Given the description of an element on the screen output the (x, y) to click on. 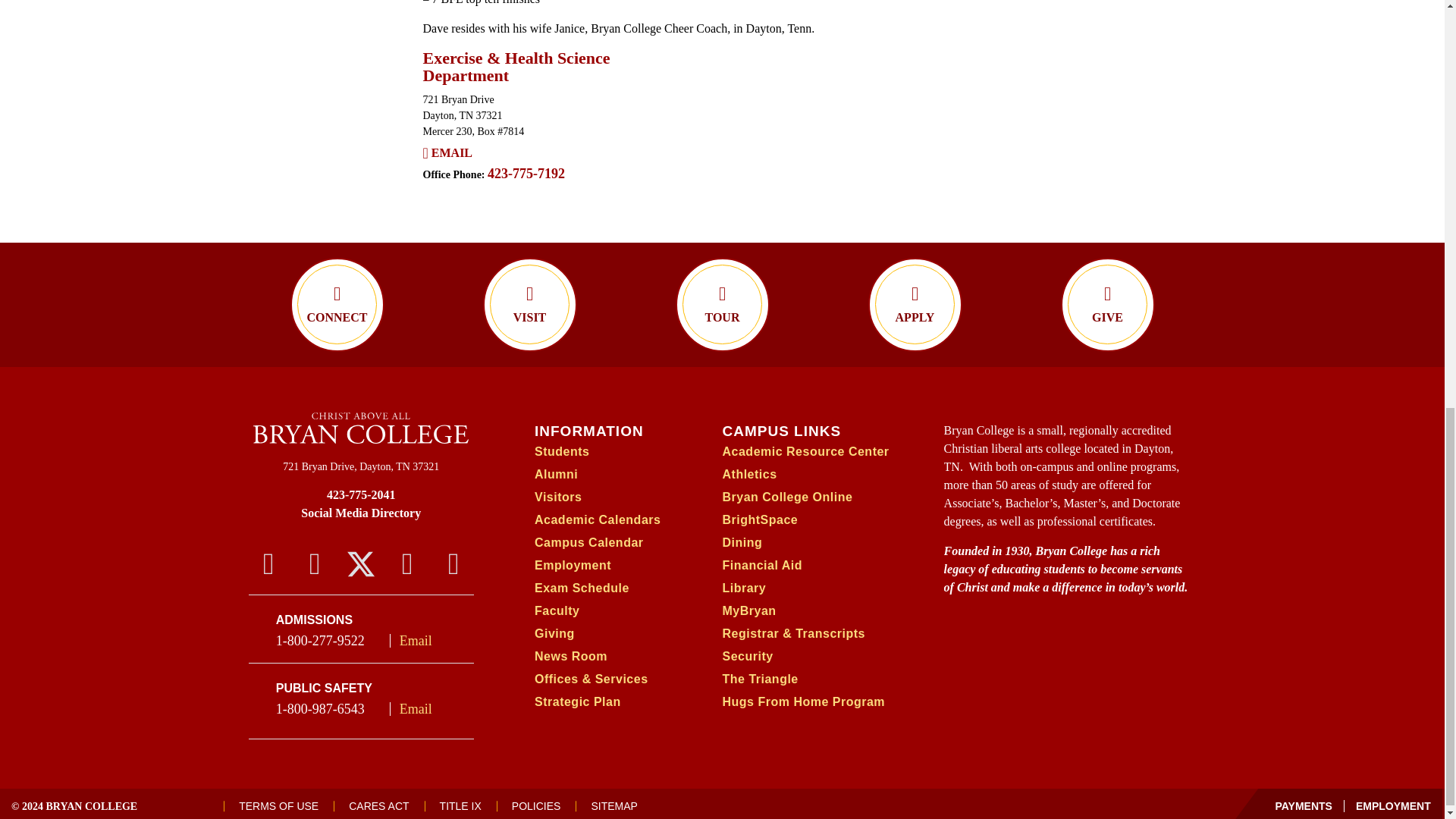
Payments (1303, 806)
Email (450, 153)
423-775-2041 (361, 494)
423-775-7192 (525, 173)
Employment (1387, 806)
